Given the description of an element on the screen output the (x, y) to click on. 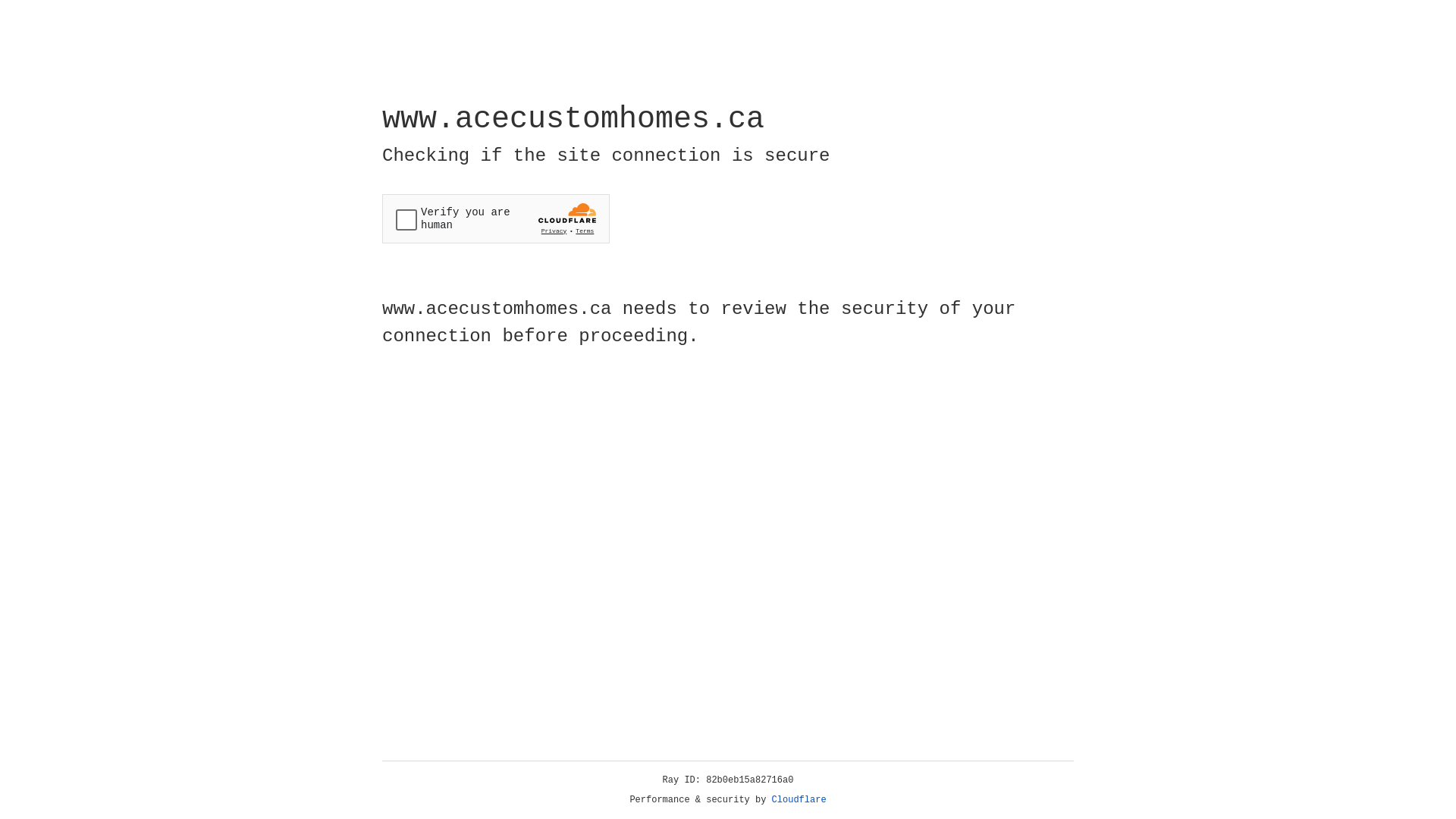
Cloudflare Element type: text (798, 799)
Widget containing a Cloudflare security challenge Element type: hover (495, 218)
